Given the description of an element on the screen output the (x, y) to click on. 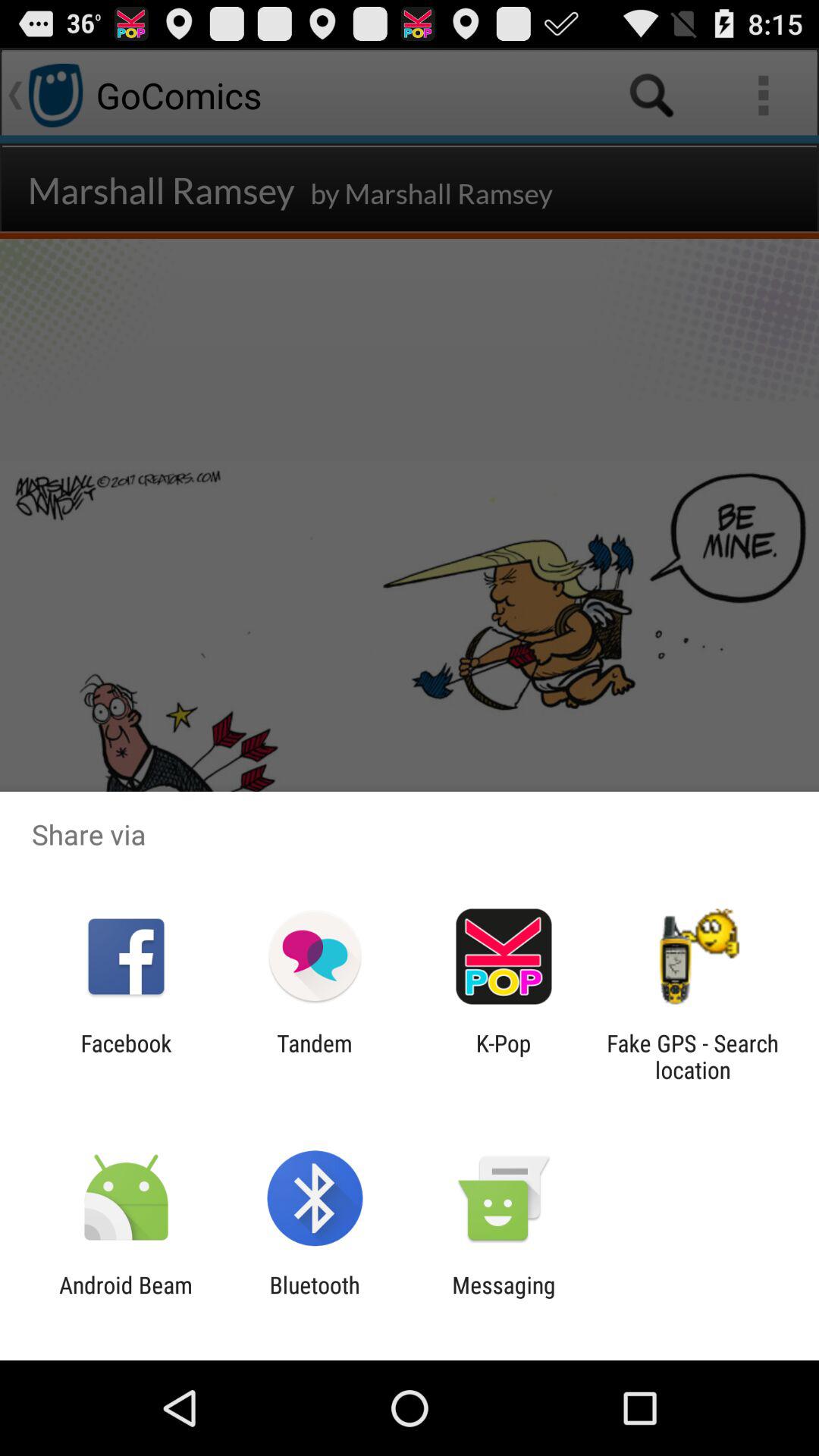
turn on the icon next to tandem icon (503, 1056)
